Given the description of an element on the screen output the (x, y) to click on. 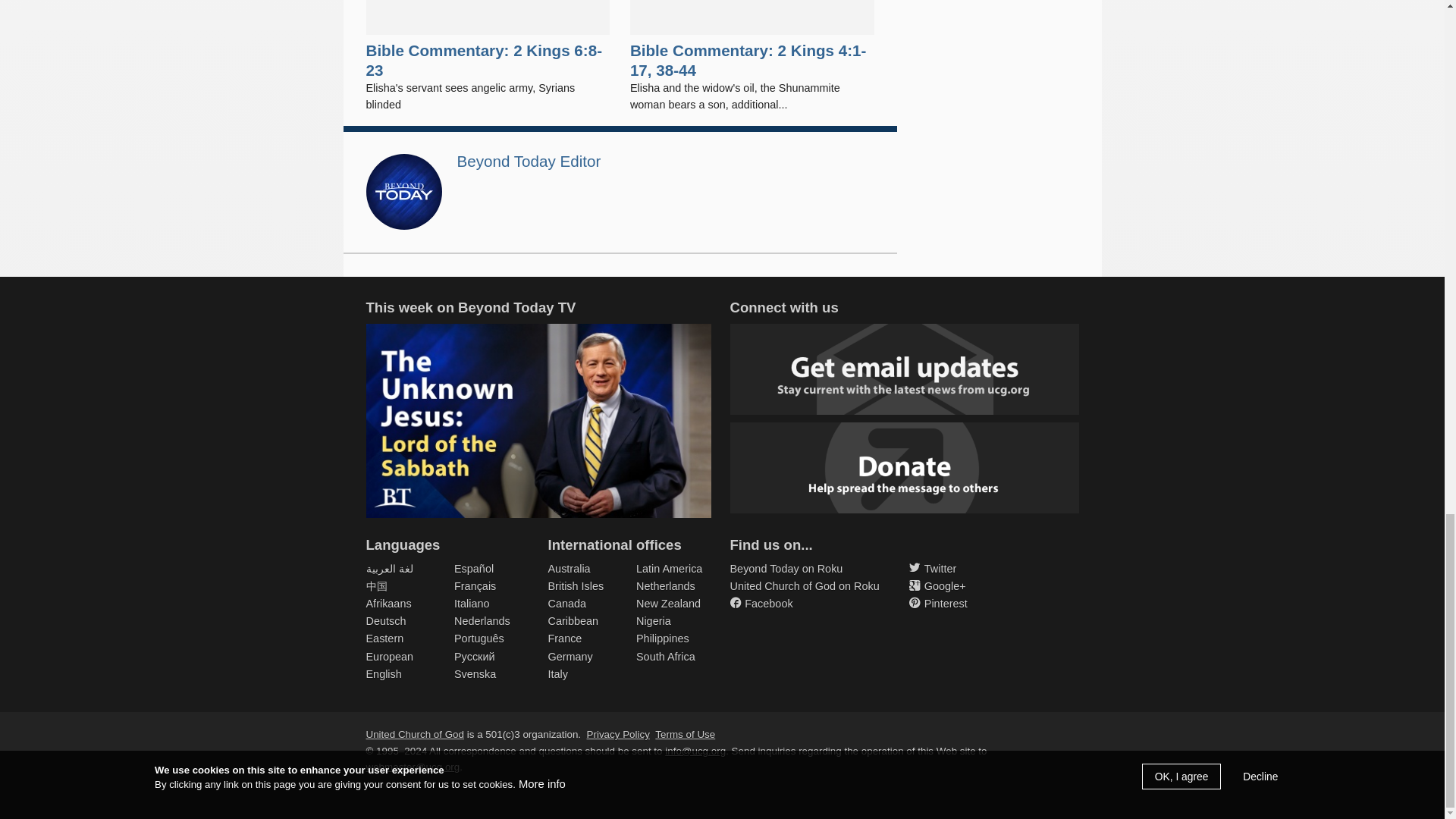
United Church of God, ia Pinterest account (938, 603)
United Church of God, ia Twitter account (932, 569)
Donate: Help spread the message to others (903, 467)
Get email updates. Stay current with the latest from ucg.org (903, 368)
United Church of God, ia Facebook page (760, 603)
